Given the description of an element on the screen output the (x, y) to click on. 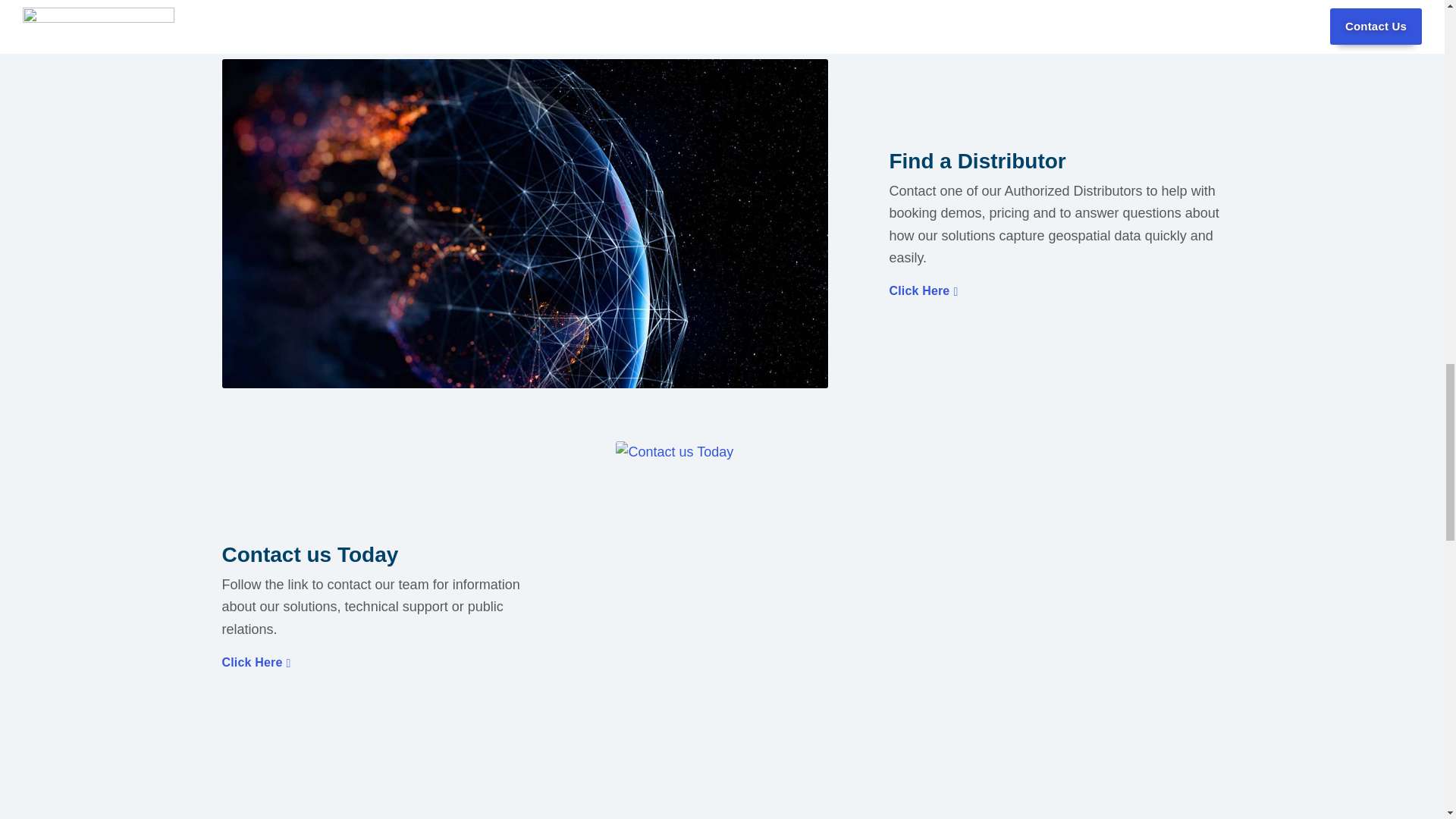
Click Here (923, 291)
Find a Distributor (1055, 161)
Contact us Today (387, 554)
Click Here (255, 662)
